Given the description of an element on the screen output the (x, y) to click on. 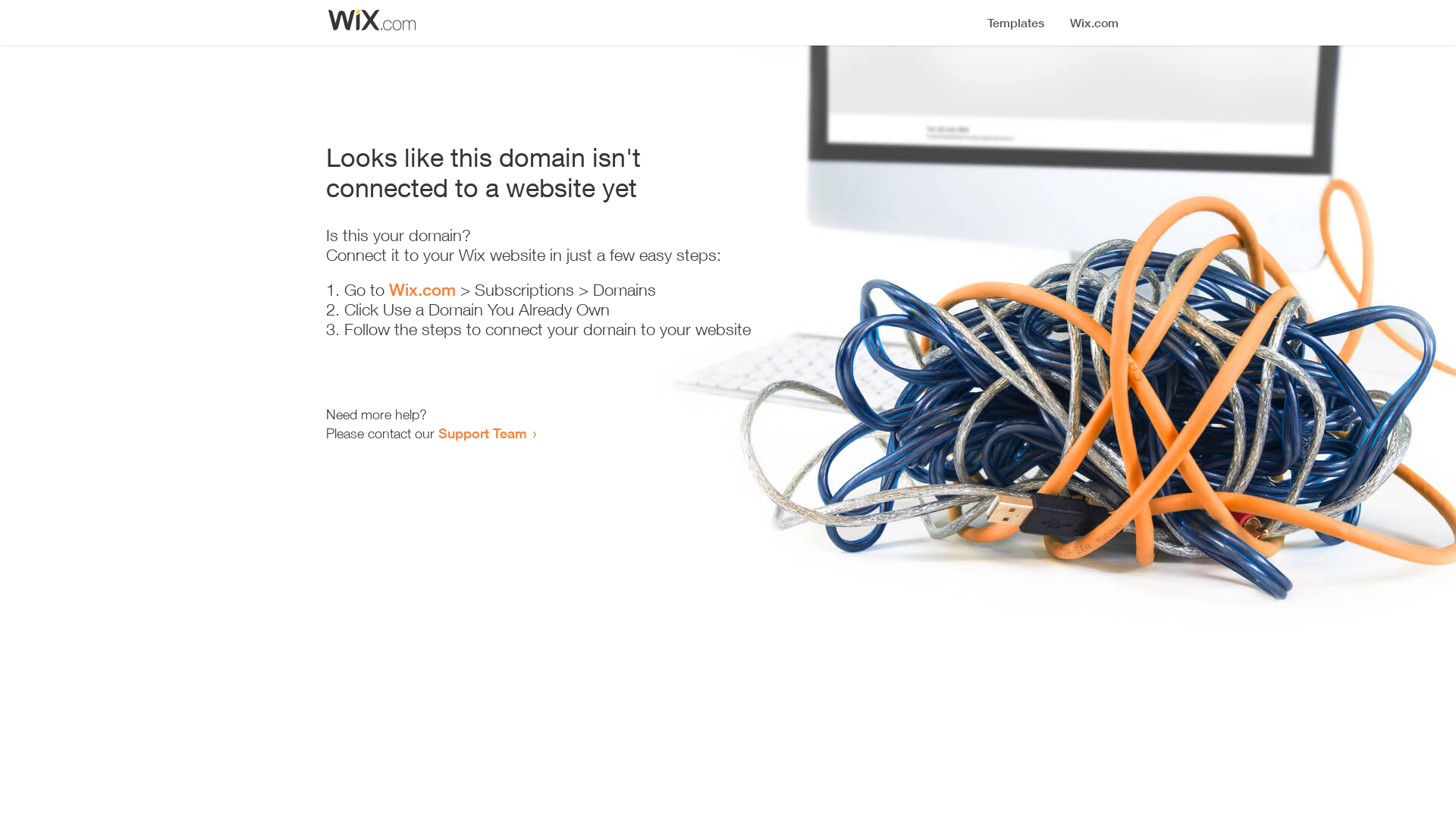
Wix.com Element type: text (422, 289)
Support Team Element type: text (482, 432)
